Given the description of an element on the screen output the (x, y) to click on. 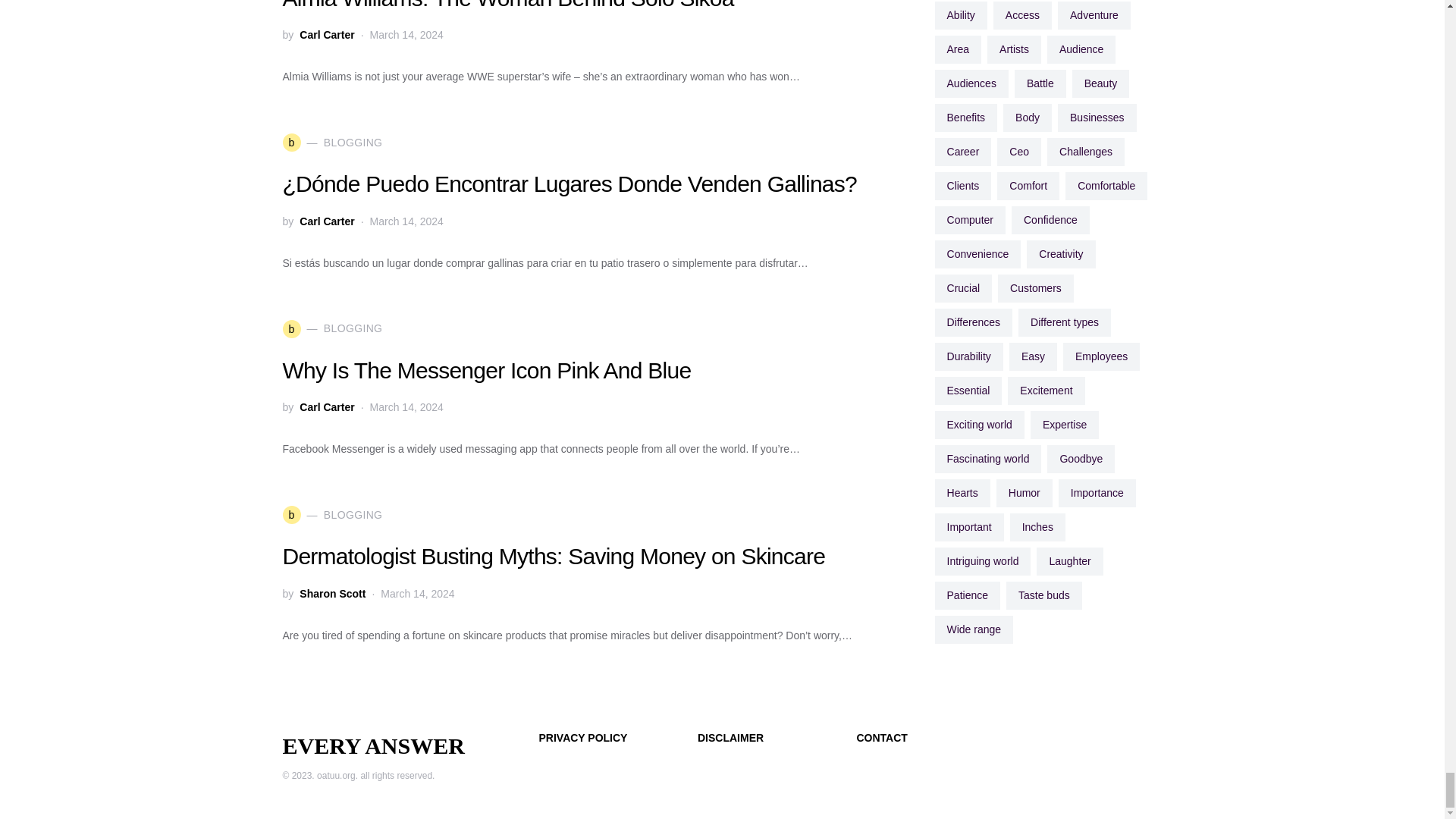
View all posts by Sharon Scott (332, 593)
View all posts by Carl Carter (326, 220)
View all posts by Carl Carter (326, 406)
View all posts by Carl Carter (326, 34)
